Given the description of an element on the screen output the (x, y) to click on. 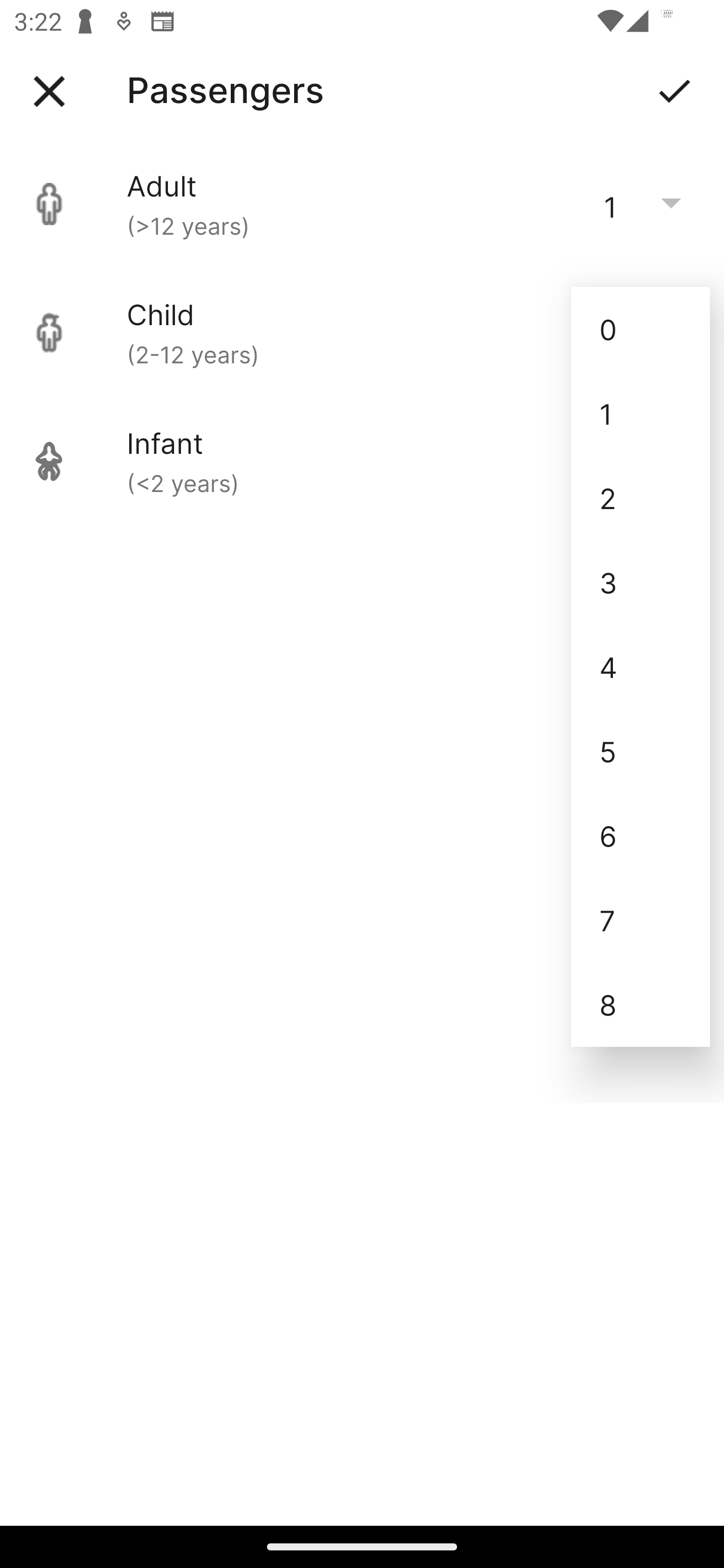
0 (640, 328)
1 (640, 413)
2 (640, 498)
3 (640, 582)
4 (640, 666)
5 (640, 750)
6 (640, 835)
7 (640, 920)
8 (640, 1004)
